Given the description of an element on the screen output the (x, y) to click on. 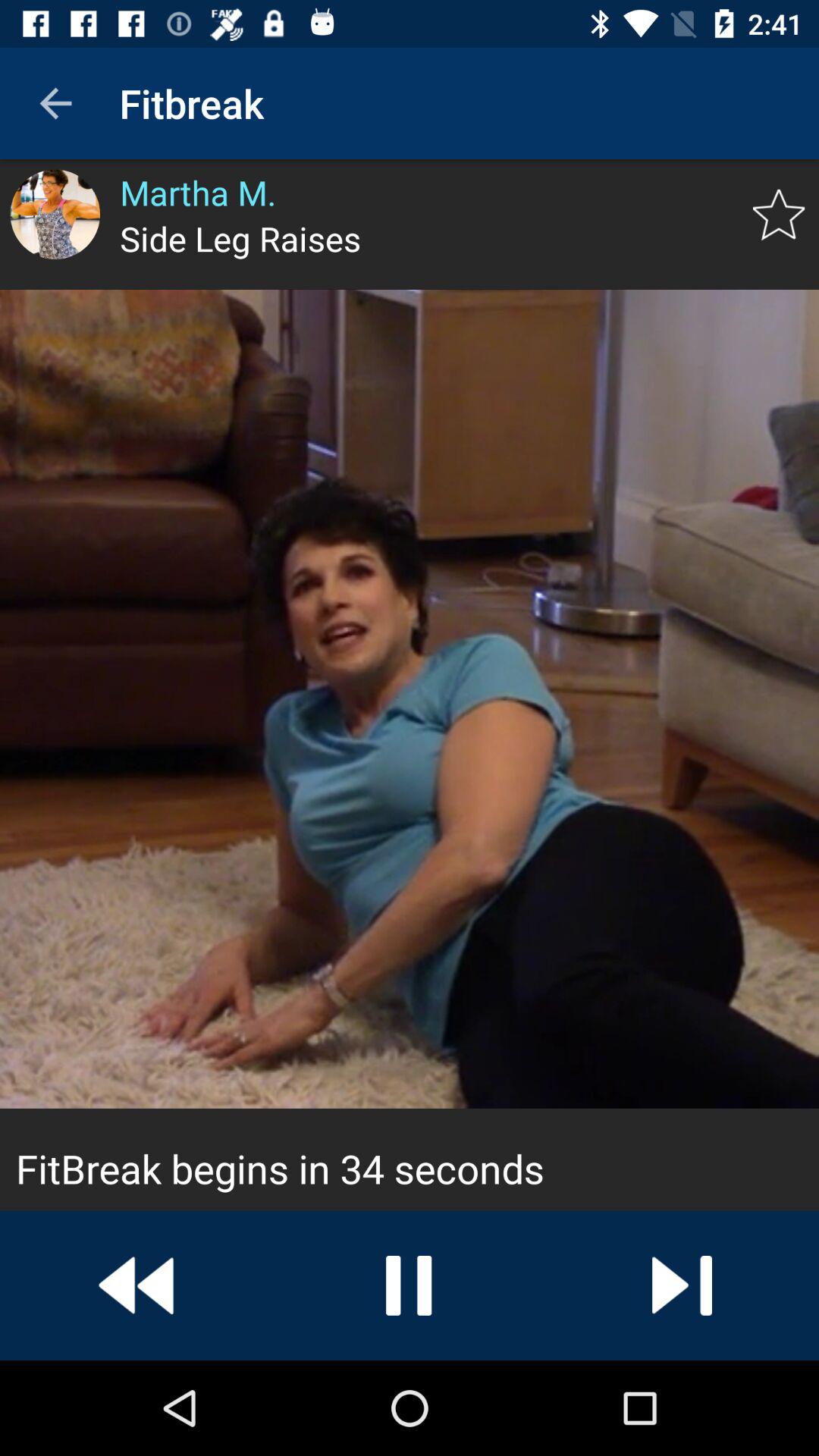
rewind the video (136, 1285)
